Given the description of an element on the screen output the (x, y) to click on. 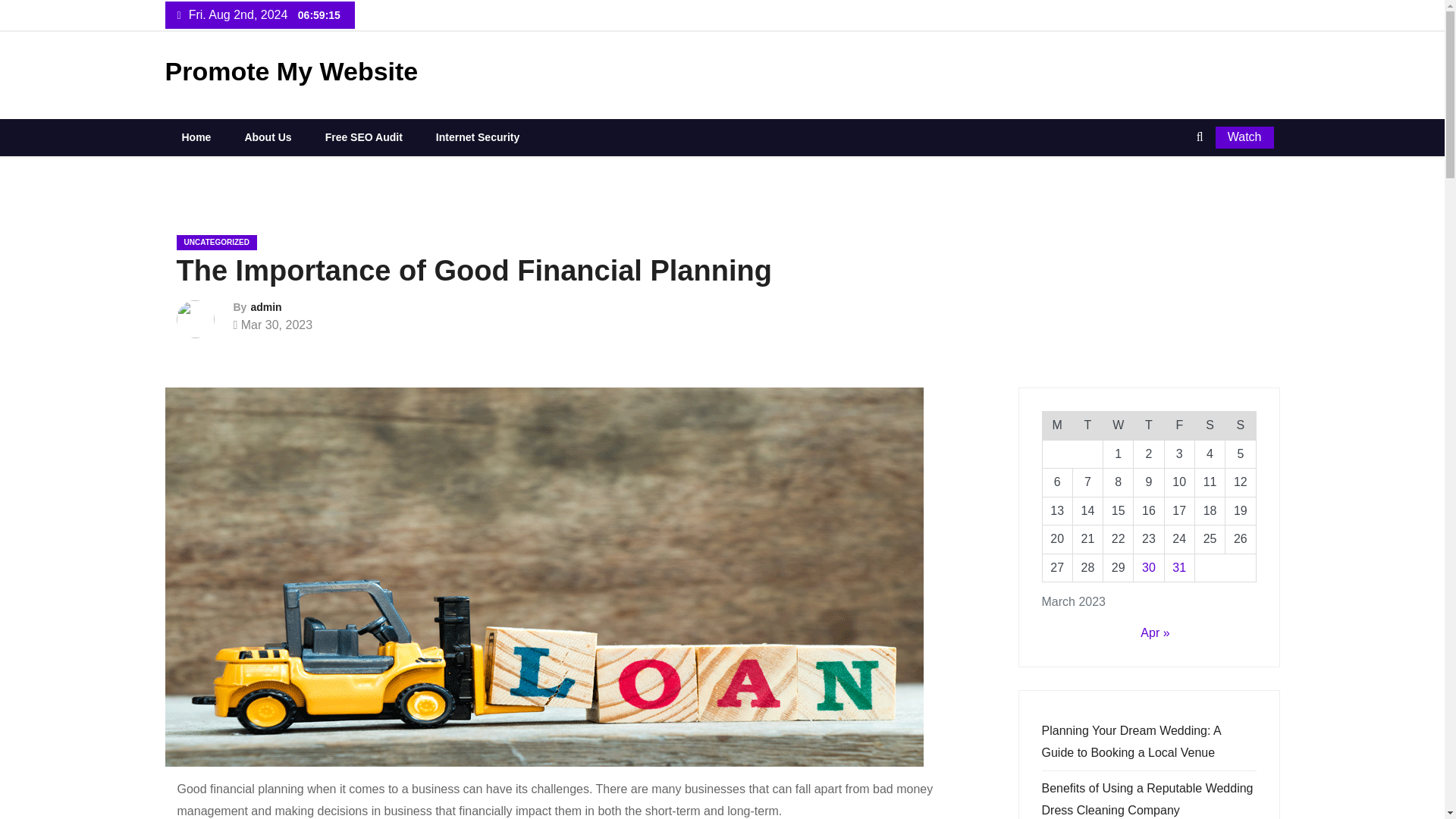
Thursday (1148, 425)
UNCATEGORIZED (216, 242)
Watch (1244, 137)
Wednesday (1118, 425)
Free SEO Audit (363, 137)
Promote My Website (292, 70)
Tuesday (1086, 425)
admin (265, 306)
Sunday (1240, 425)
Home (196, 137)
